Given the description of an element on the screen output the (x, y) to click on. 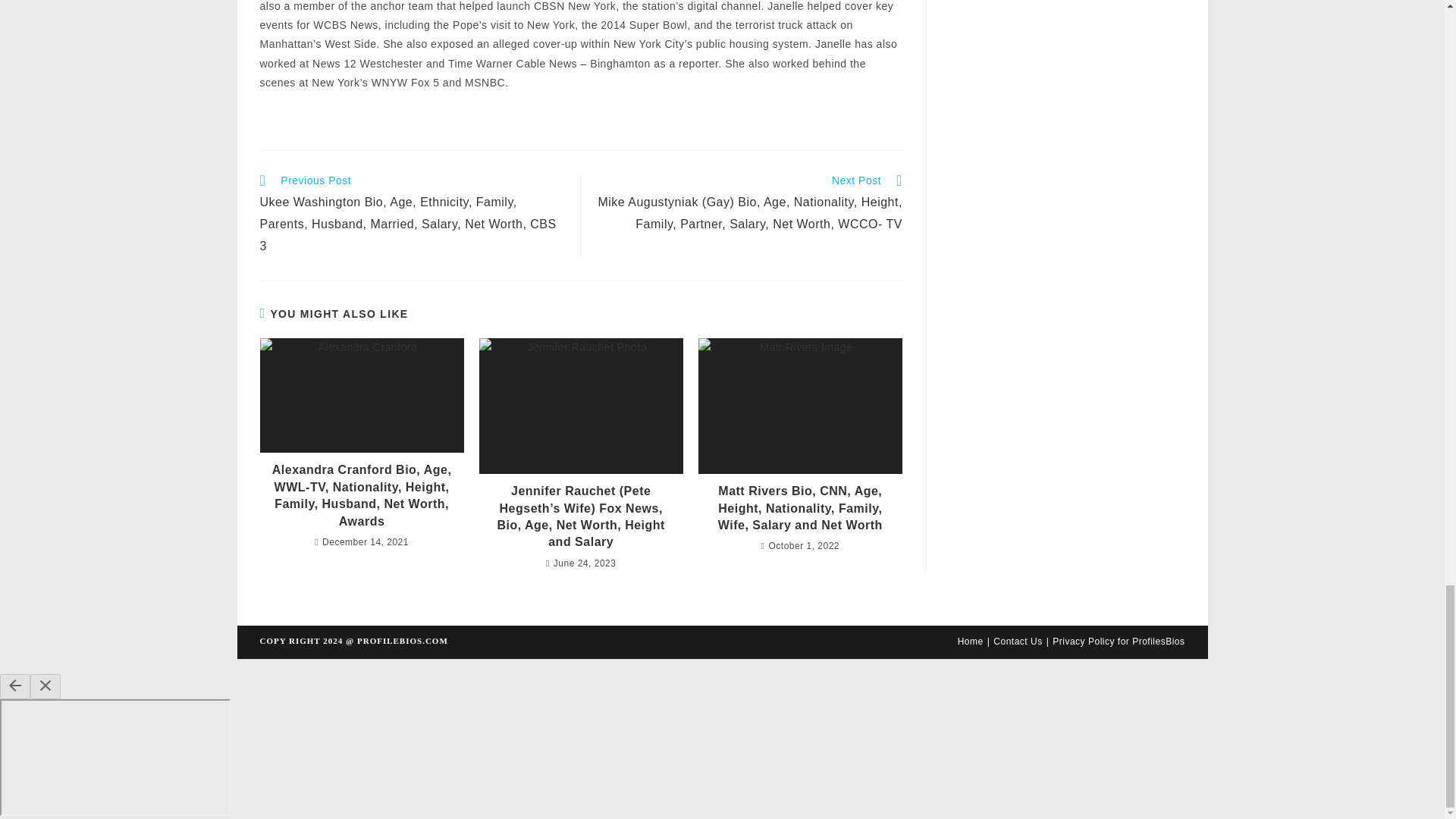
Home (971, 641)
Privacy Policy for ProfilesBios (1118, 641)
Contact Us (1017, 641)
